Given the description of an element on the screen output the (x, y) to click on. 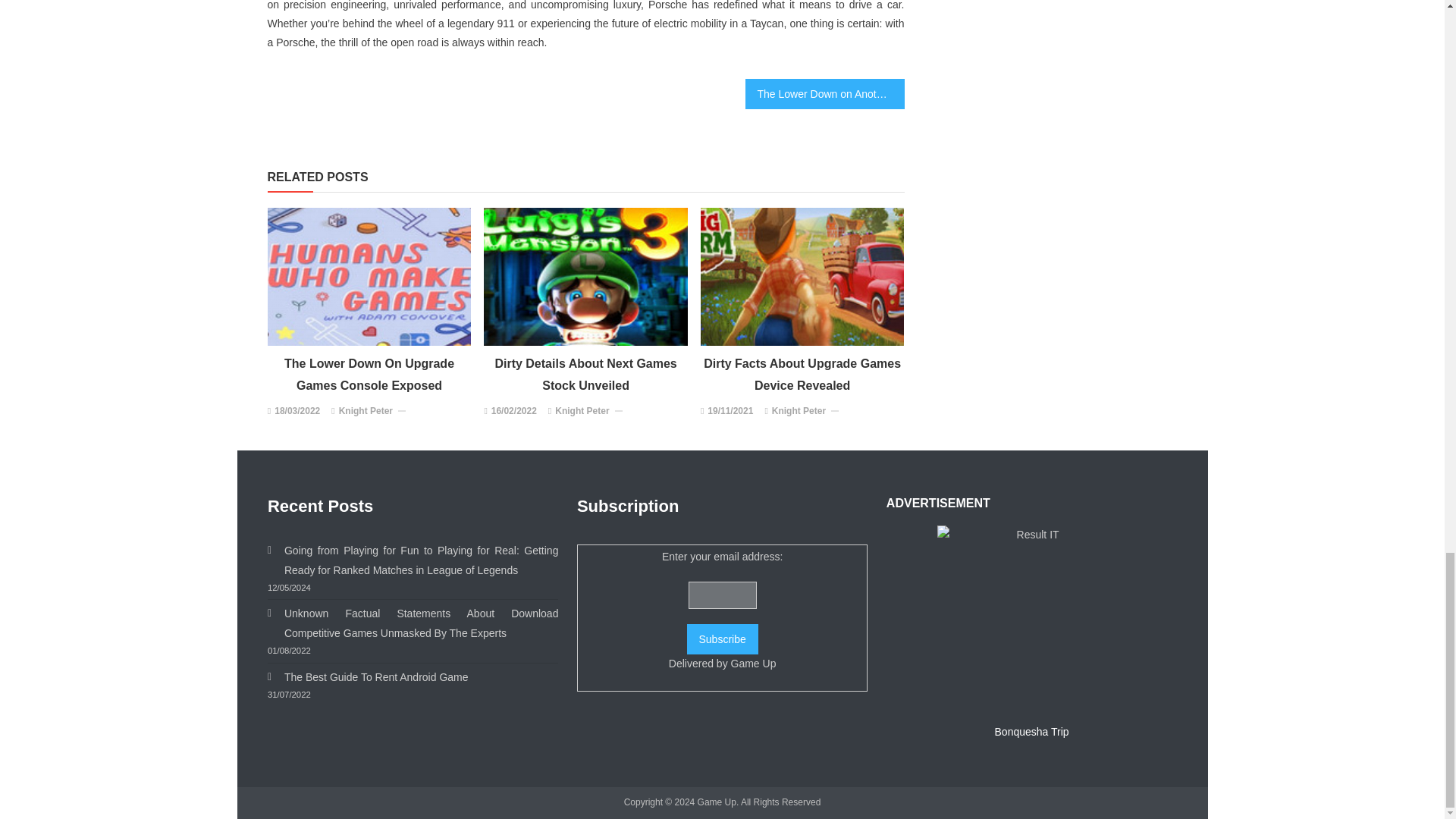
Subscribe (722, 639)
Dirty Facts About Upgrade Games Device Revealed (802, 276)
Knight Peter (581, 411)
Knight Peter (798, 411)
Knight Peter (366, 411)
Result IT (1031, 619)
Dirty Details About Next Games Stock Unveiled (585, 276)
The Lower Down On Upgrade Games Console Exposed (368, 374)
Dirty Details About Next Games Stock Unveiled (585, 374)
Dirty Facts About Upgrade Games Device Revealed (802, 374)
The Lower Down on Another Device Games Download Revealed (824, 93)
The Lower Down on Upgrade Games Console Exposed (368, 276)
